Given the description of an element on the screen output the (x, y) to click on. 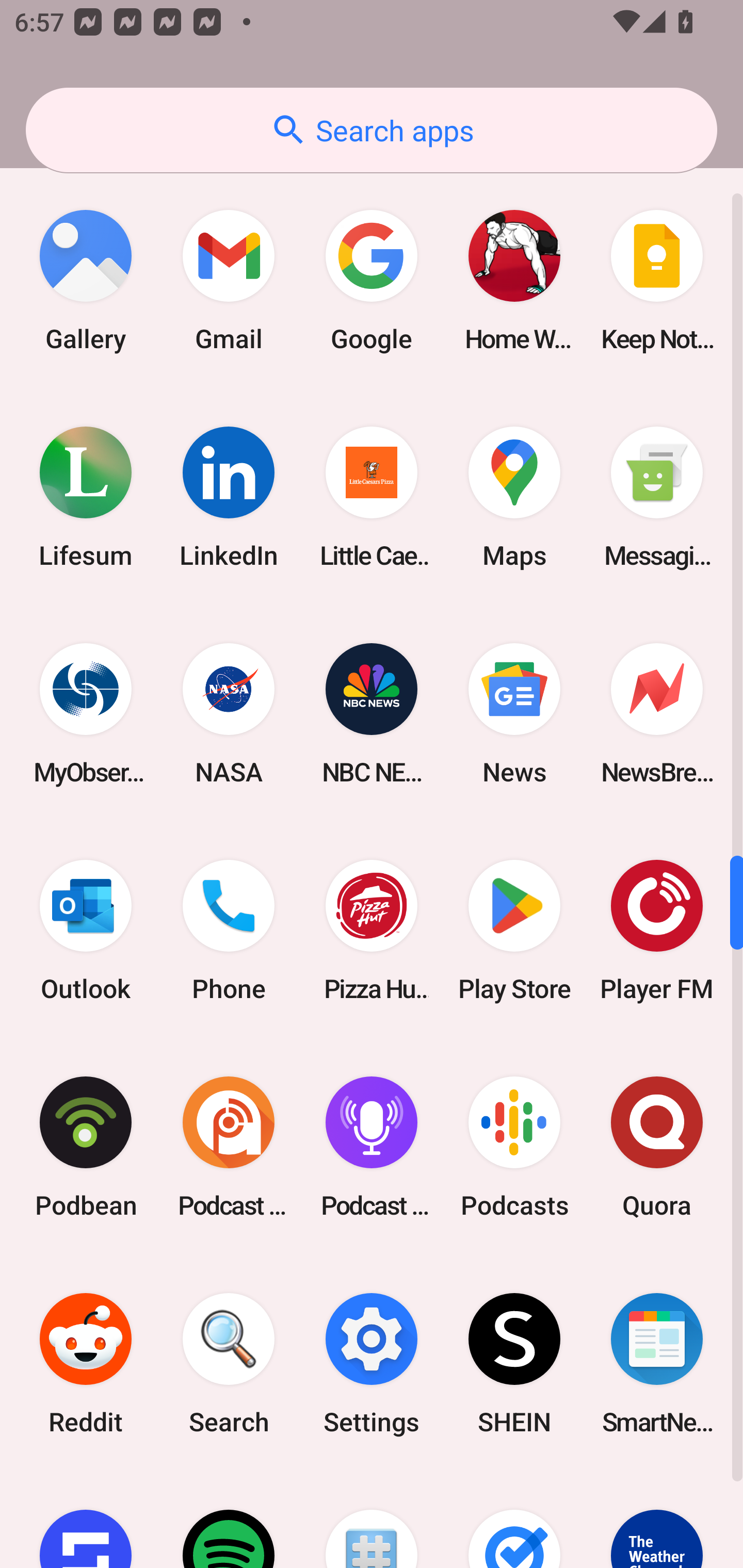
  Search apps (371, 130)
Gallery (85, 280)
Gmail (228, 280)
Google (371, 280)
Home Workout (514, 280)
Keep Notes (656, 280)
Lifesum (85, 496)
LinkedIn (228, 496)
Little Caesars Pizza (371, 496)
Maps (514, 496)
Messaging (656, 496)
MyObservatory (85, 713)
NASA (228, 713)
NBC NEWS (371, 713)
News (514, 713)
NewsBreak (656, 713)
Outlook (85, 929)
Phone (228, 929)
Pizza Hut HK & Macau (371, 929)
Play Store (514, 929)
Player FM (656, 929)
Podbean (85, 1146)
Podcast Addict (228, 1146)
Podcast Player (371, 1146)
Podcasts (514, 1146)
Quora (656, 1146)
Reddit (85, 1363)
Search (228, 1363)
Settings (371, 1363)
SHEIN (514, 1363)
SmartNews (656, 1363)
Sofascore (85, 1520)
Spotify (228, 1520)
Superuser (371, 1520)
Tasks (514, 1520)
The Weather Channel (656, 1520)
